Given the description of an element on the screen output the (x, y) to click on. 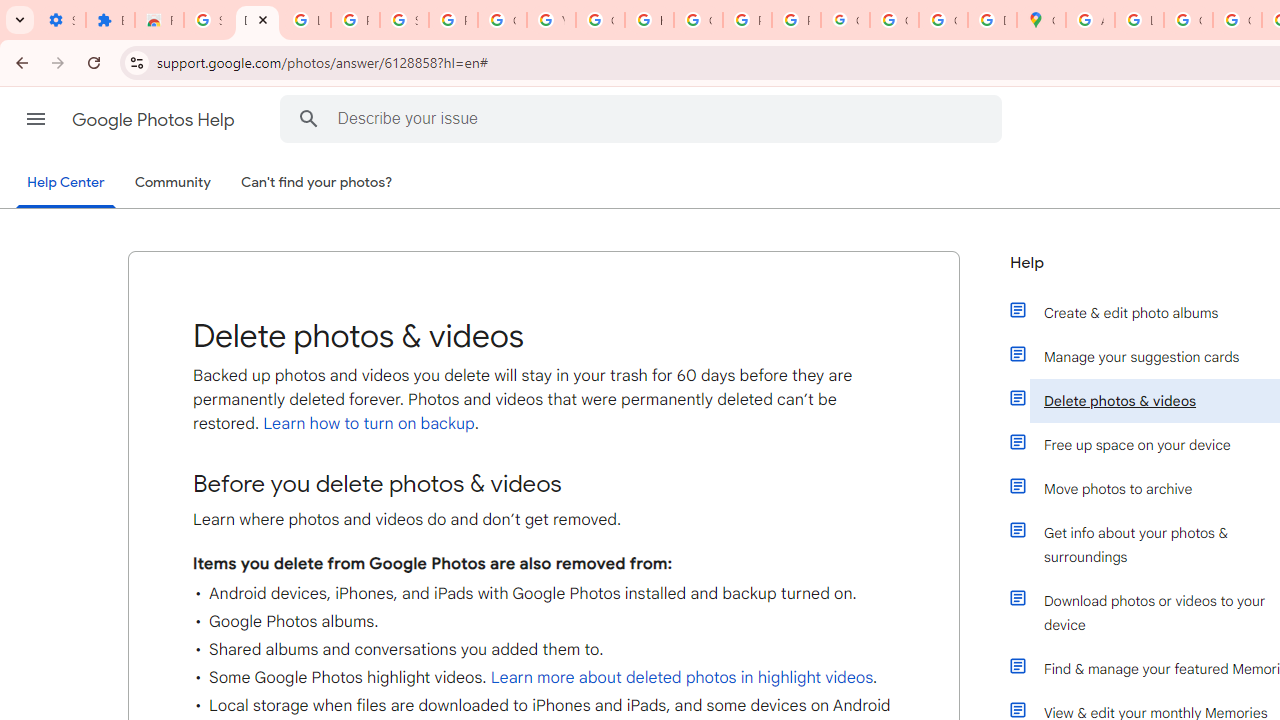
Delete photos & videos - Computer - Google Photos Help (257, 20)
Sign in - Google Accounts (208, 20)
Sign in - Google Accounts (404, 20)
Learn more about deleted photos in highlight videos (682, 678)
YouTube (551, 20)
 Learn how to turn on backup (366, 423)
Google Photos Help (155, 119)
